Given the description of an element on the screen output the (x, y) to click on. 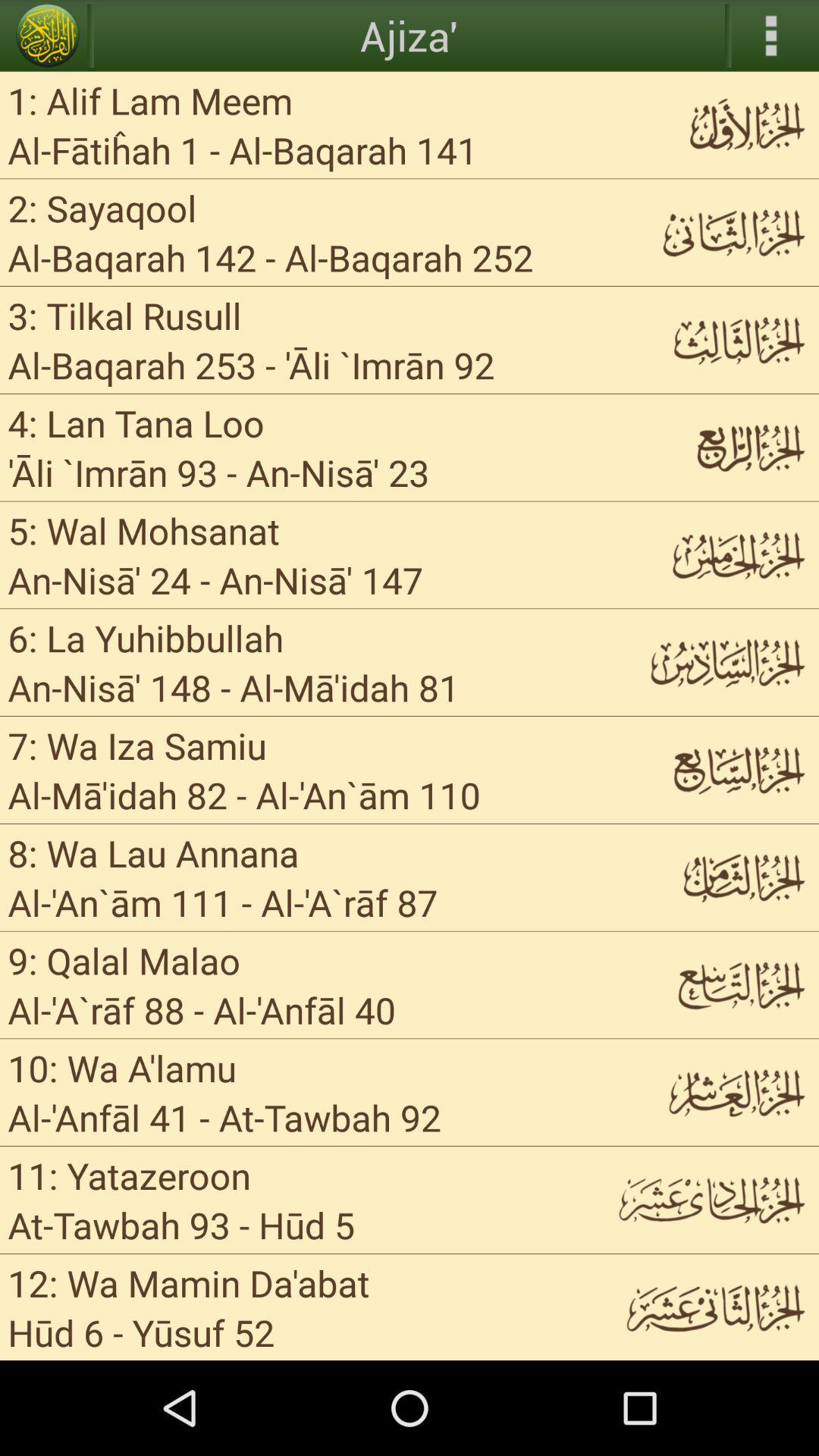
jump until the 3: tilkal rusull item (124, 315)
